Given the description of an element on the screen output the (x, y) to click on. 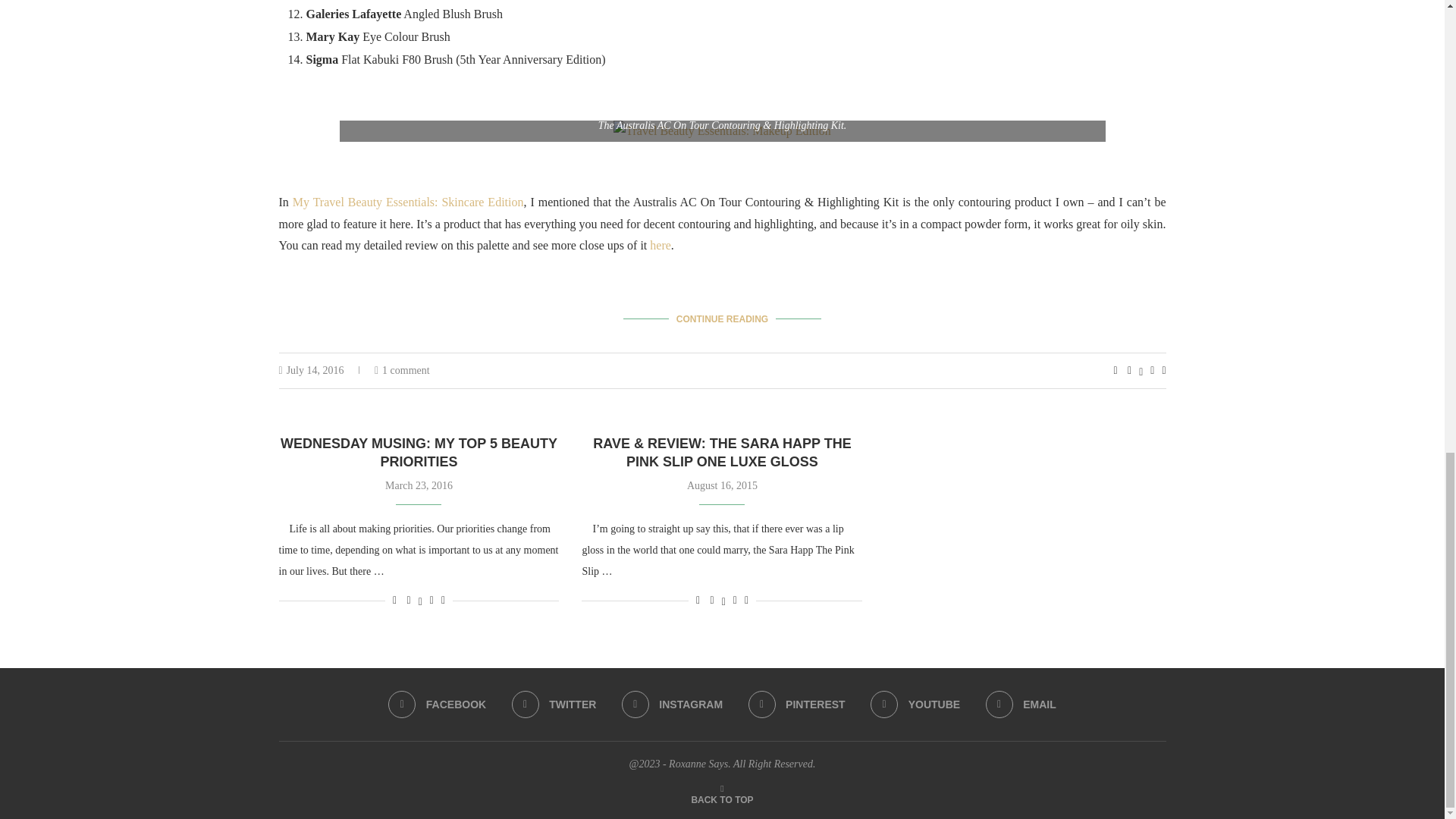
CONTINUE READING (722, 319)
My Travel Beauty Essentials: Skincare Edition (408, 201)
1 comment (401, 369)
WEDNESDAY MUSING: MY TOP 5 BEAUTY PRIORITIES (419, 452)
here (660, 245)
